Given the description of an element on the screen output the (x, y) to click on. 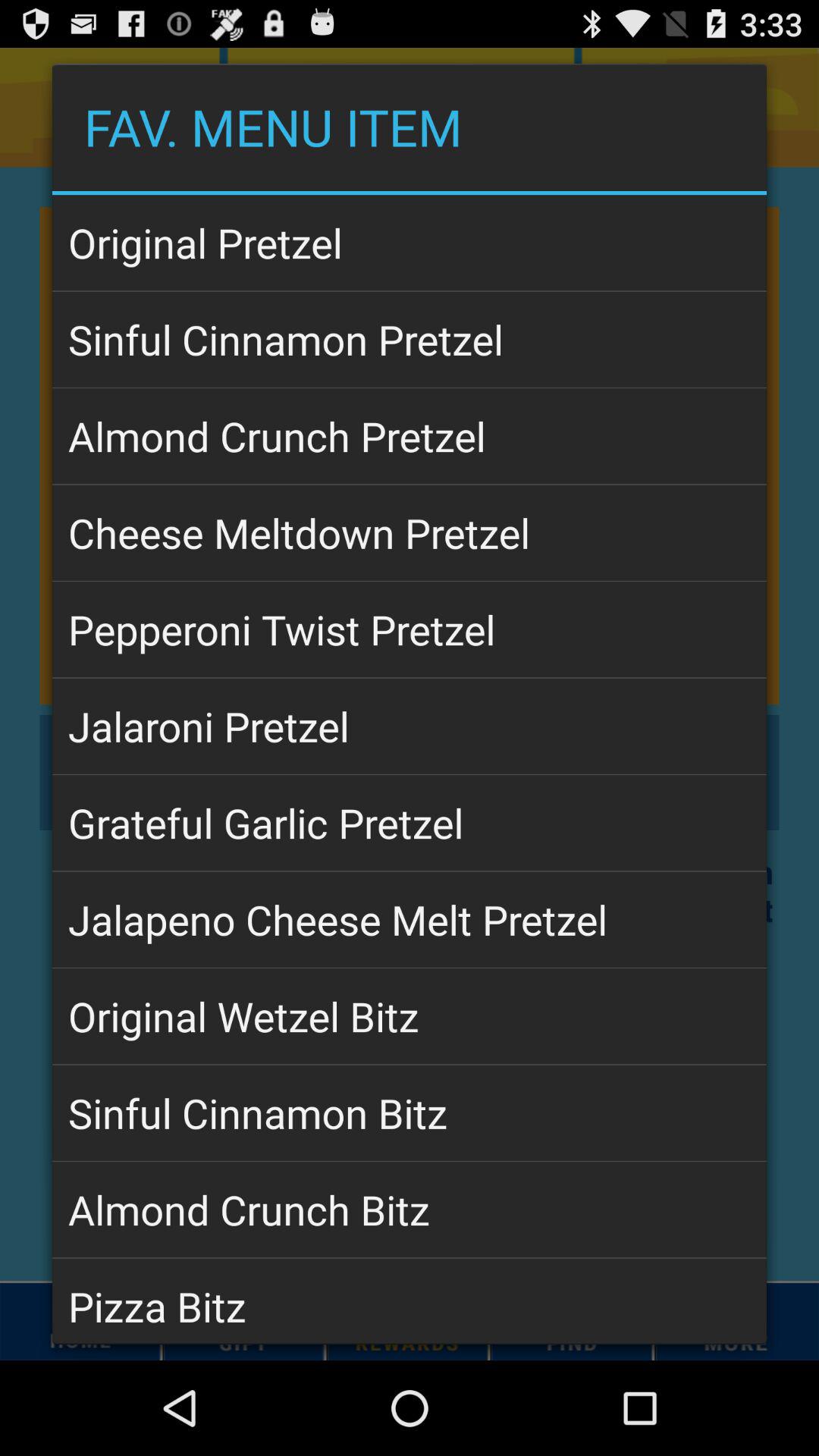
turn on item above jalaroni pretzel app (409, 629)
